Given the description of an element on the screen output the (x, y) to click on. 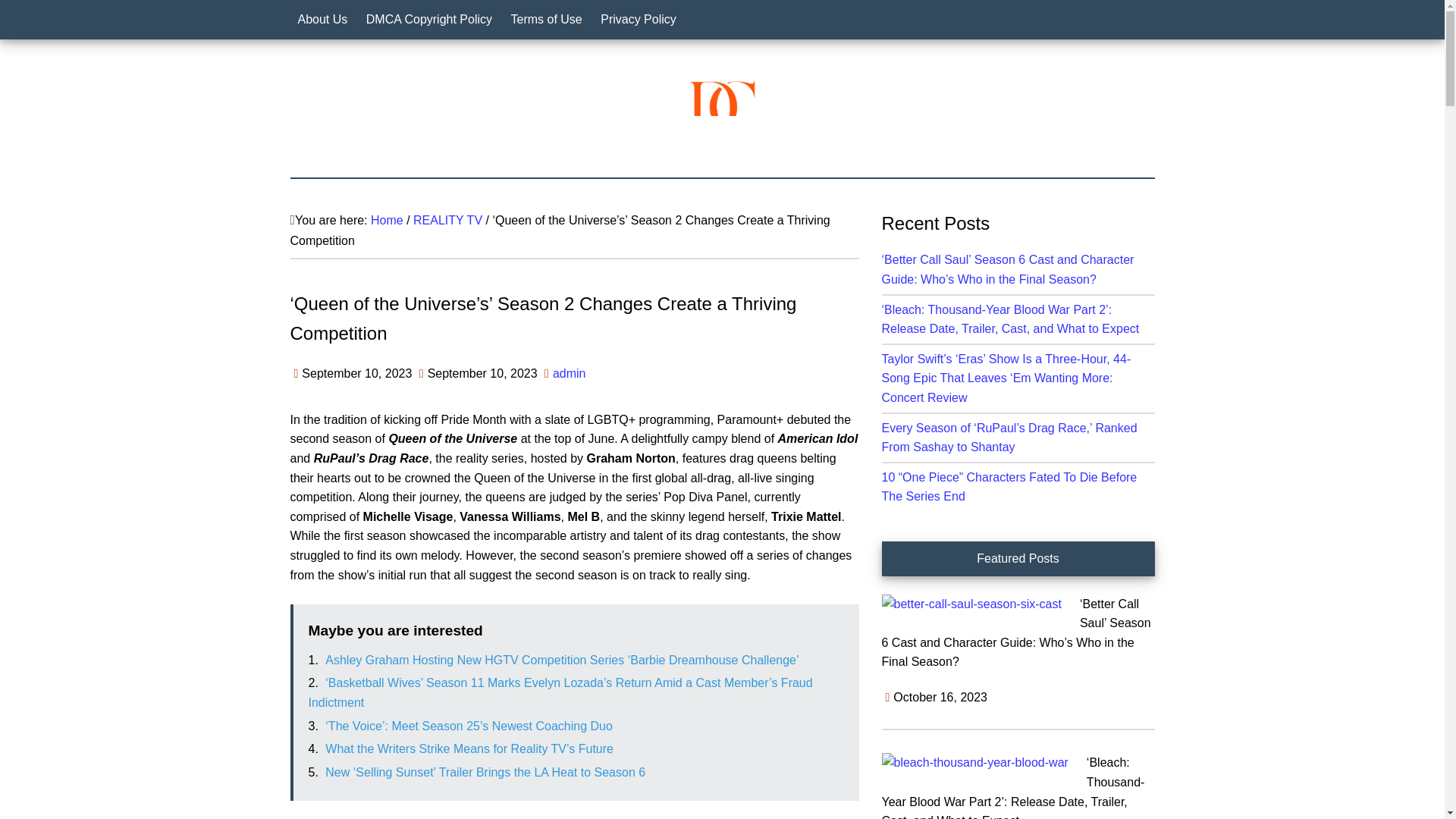
Terms of Use (546, 19)
admin (569, 373)
Dominion Cinemas (721, 112)
About Us (322, 19)
Privacy Policy (638, 19)
DMCA Copyright Policy (428, 19)
REALITY TV (447, 219)
Home (387, 219)
